Given the description of an element on the screen output the (x, y) to click on. 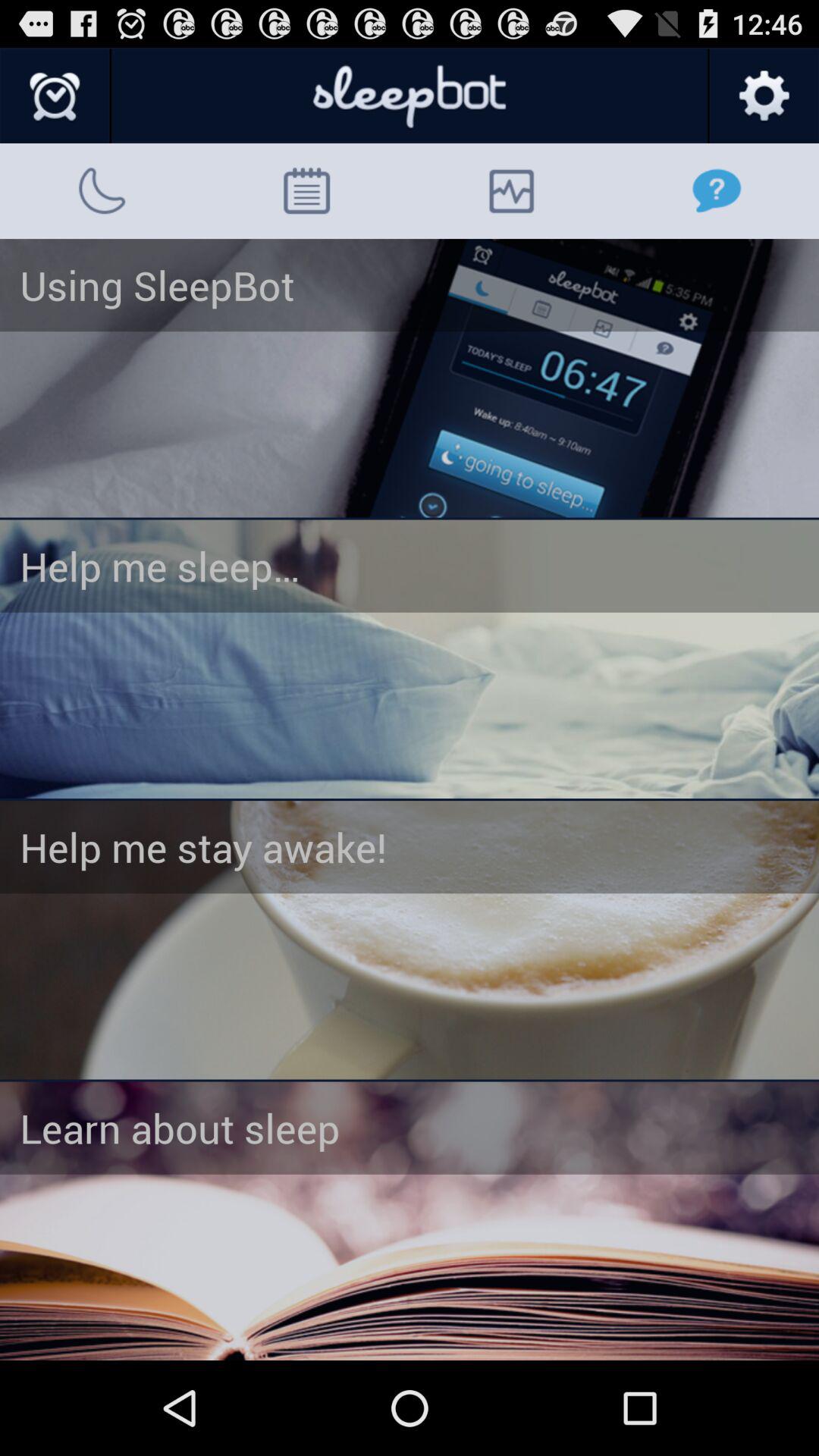
choose 'using sleepbot option (409, 377)
